Given the description of an element on the screen output the (x, y) to click on. 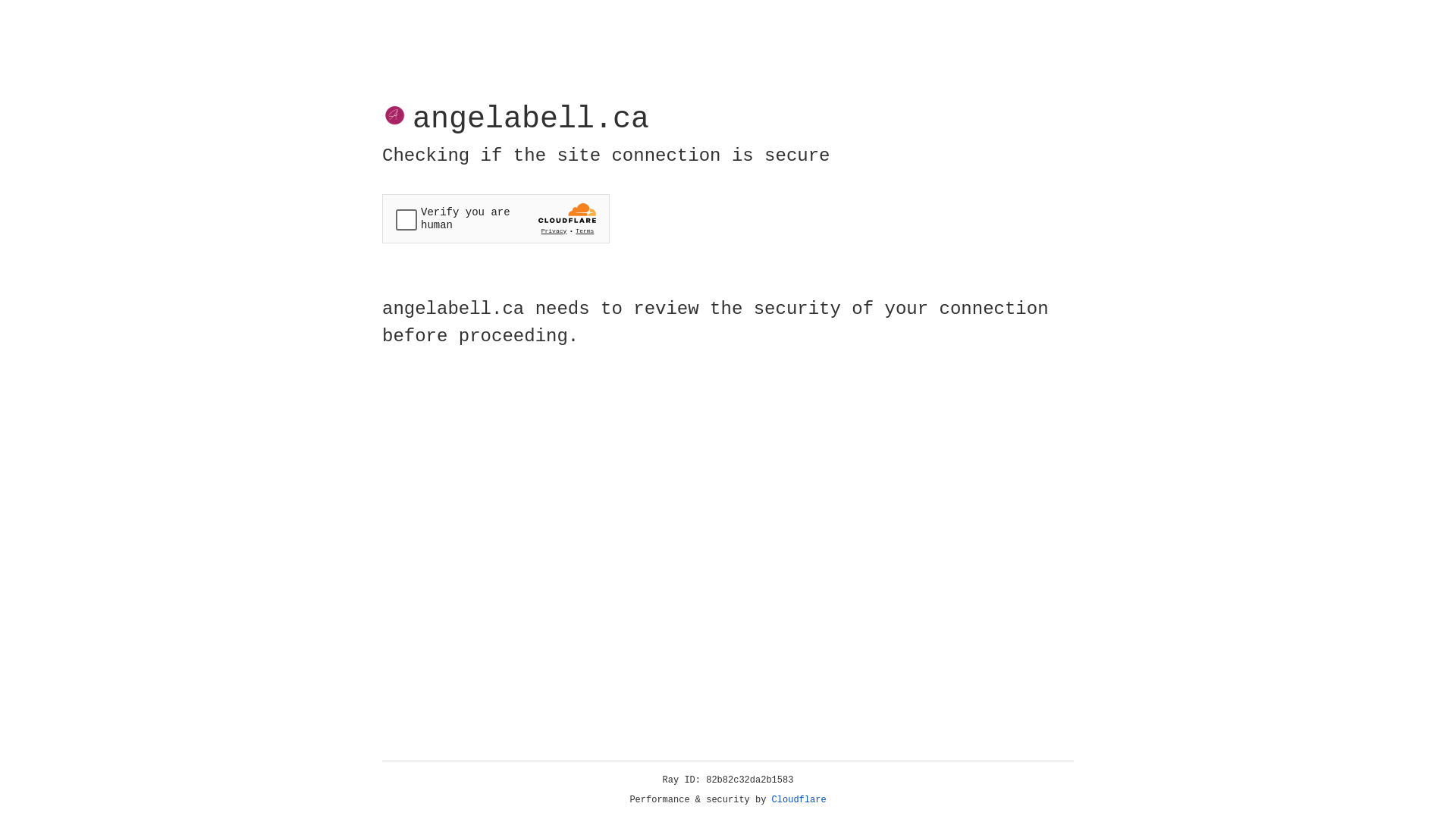
Widget containing a Cloudflare security challenge Element type: hover (495, 218)
Cloudflare Element type: text (798, 799)
